Given the description of an element on the screen output the (x, y) to click on. 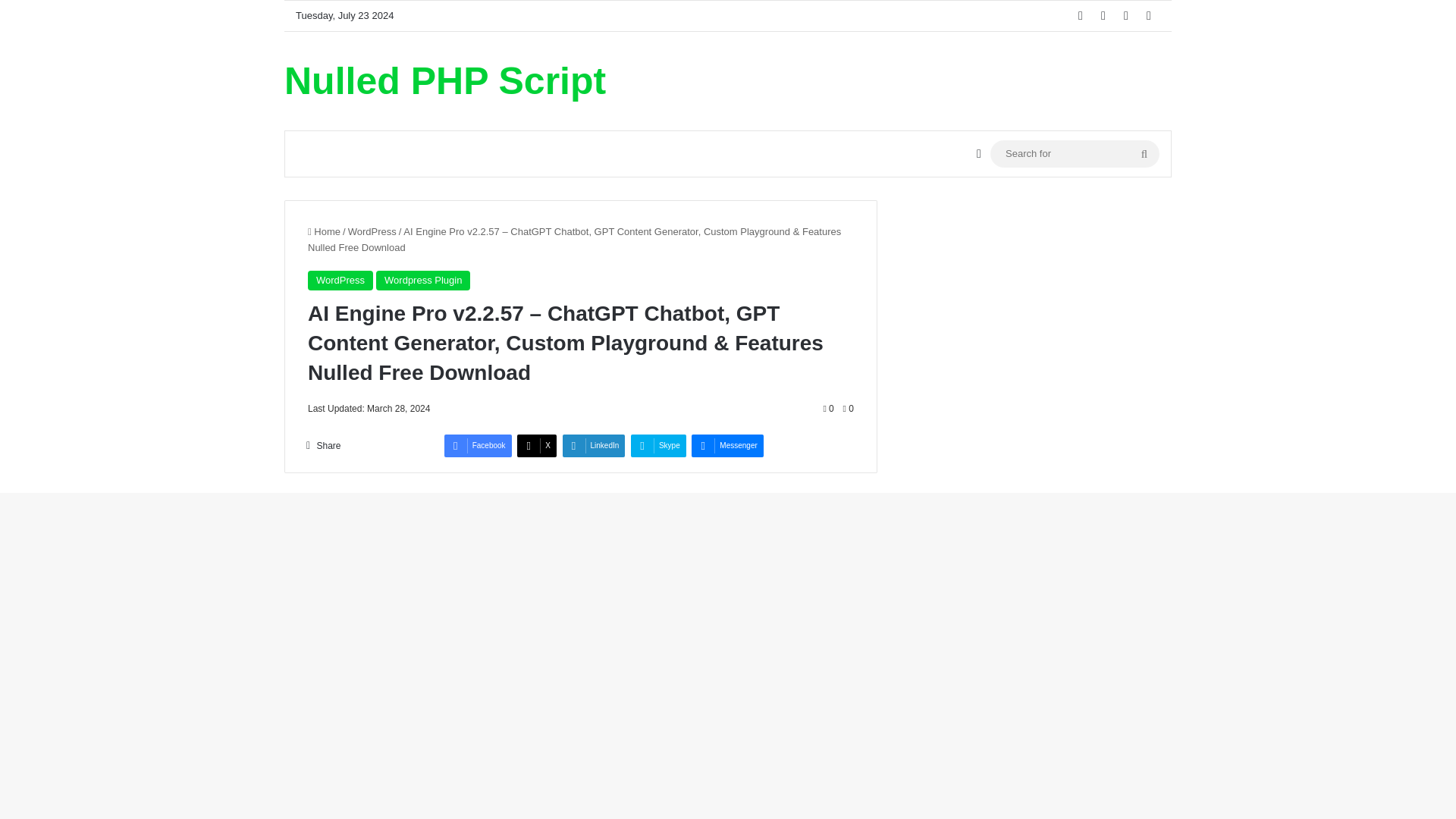
X (1103, 15)
Messenger (726, 445)
Nulled PHP Script (444, 80)
Instagram (1148, 15)
WordPress (371, 231)
LinkedIn (594, 445)
Home (323, 231)
Search For (1143, 153)
LinkedIn (594, 445)
Search for (1074, 153)
Messenger (726, 445)
Switch skin (979, 153)
Skype (657, 445)
X (536, 445)
YouTube (1126, 15)
